Given the description of an element on the screen output the (x, y) to click on. 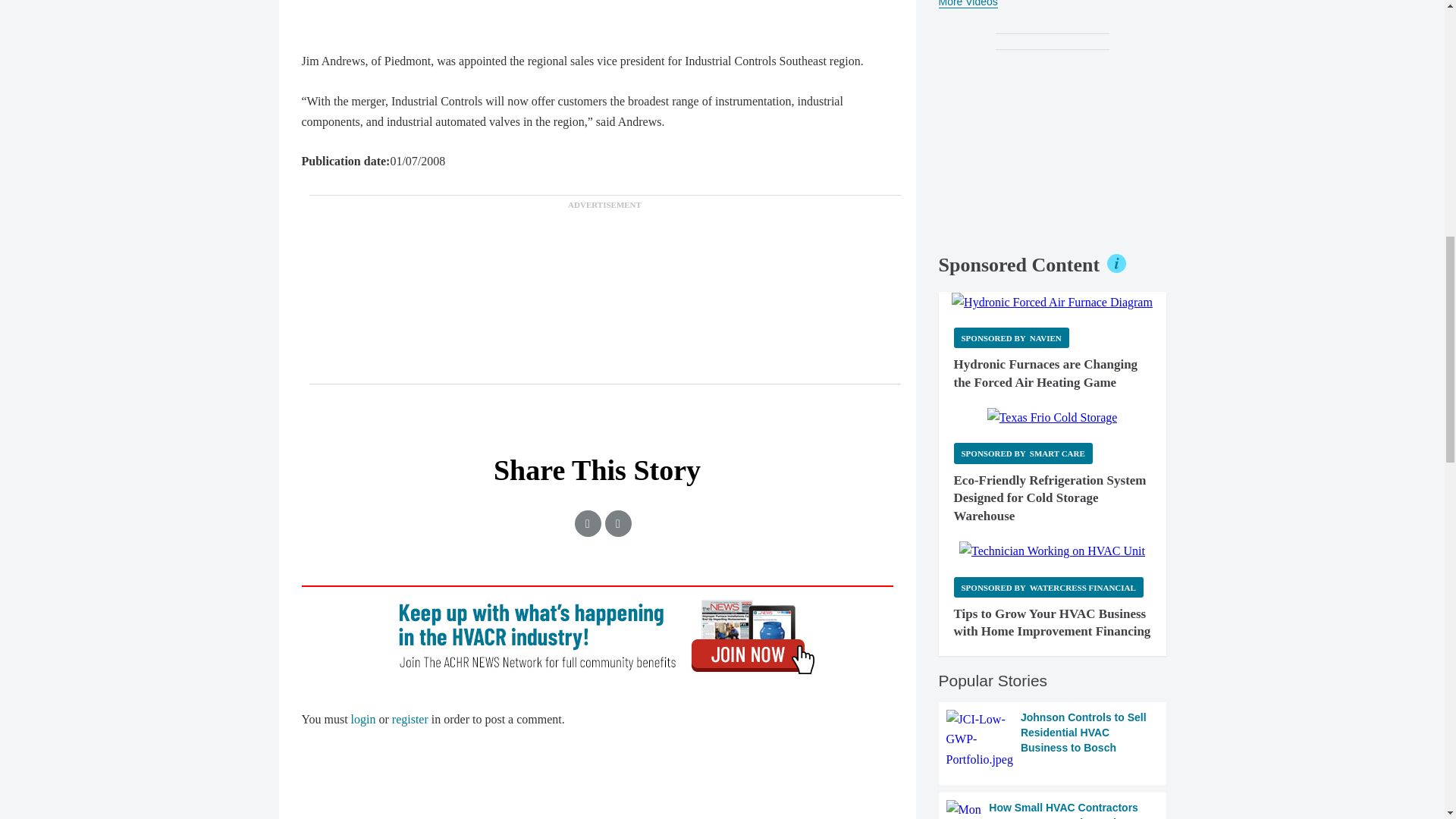
Hydronic Forced Air Furnace Diagram (1052, 302)
Sponsored by Smart Care (1023, 453)
Sponsored by Navien (1010, 337)
Texas Frio Cold Storage (1052, 417)
Johnson Controls to Sell Residential HVAC Business to Bosch (1052, 739)
Technician Working on HVAC Unit (1051, 551)
Sponsored by Watercress Financial (1047, 586)
